Given the description of an element on the screen output the (x, y) to click on. 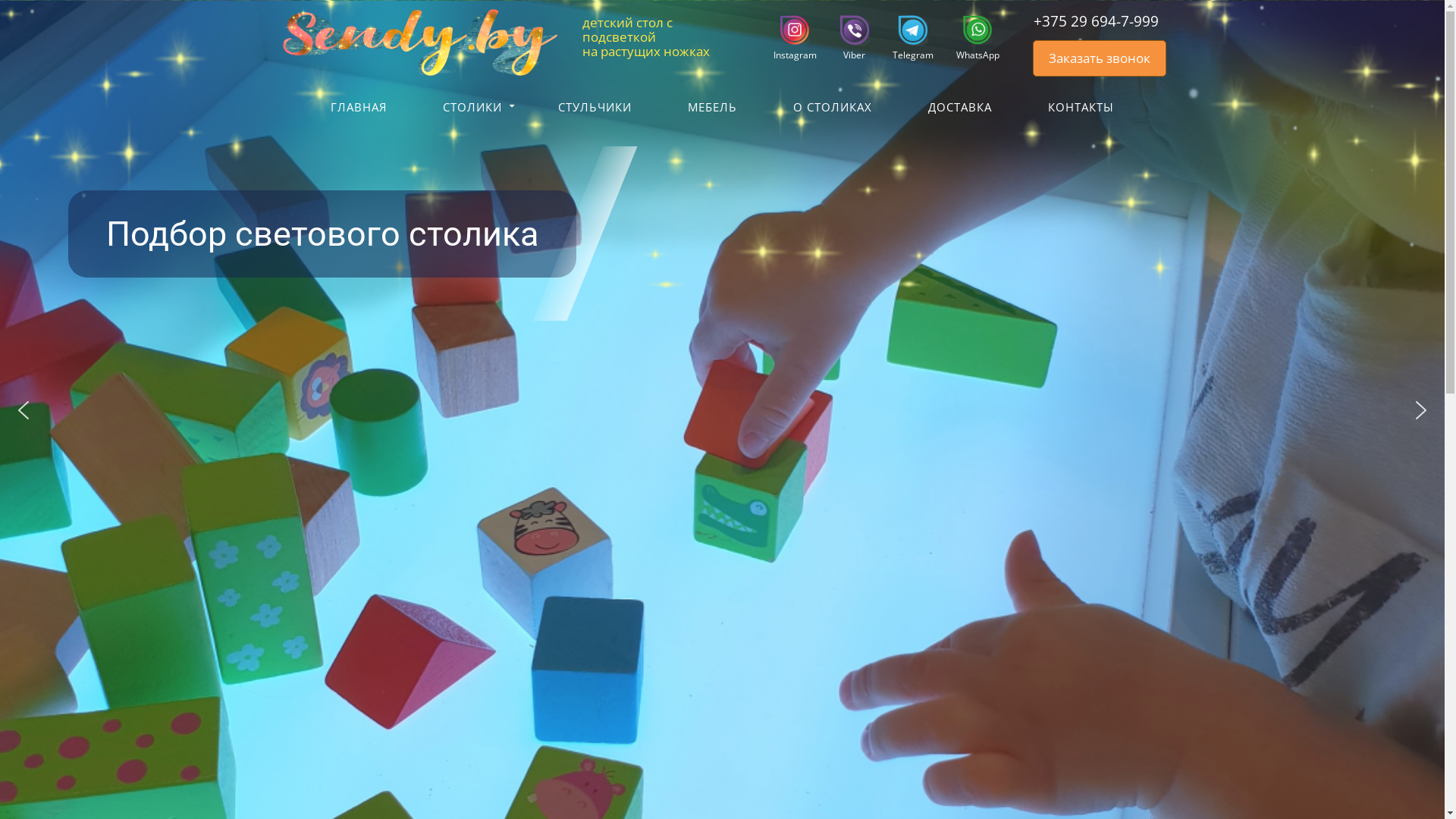
Viber Element type: text (848, 38)
+375 29 694-7-99 Element type: text (1085, 20)
Instagram Element type: text (788, 38)
WhatsApp Element type: text (971, 38)
Telegram Element type: text (906, 38)
